Given the description of an element on the screen output the (x, y) to click on. 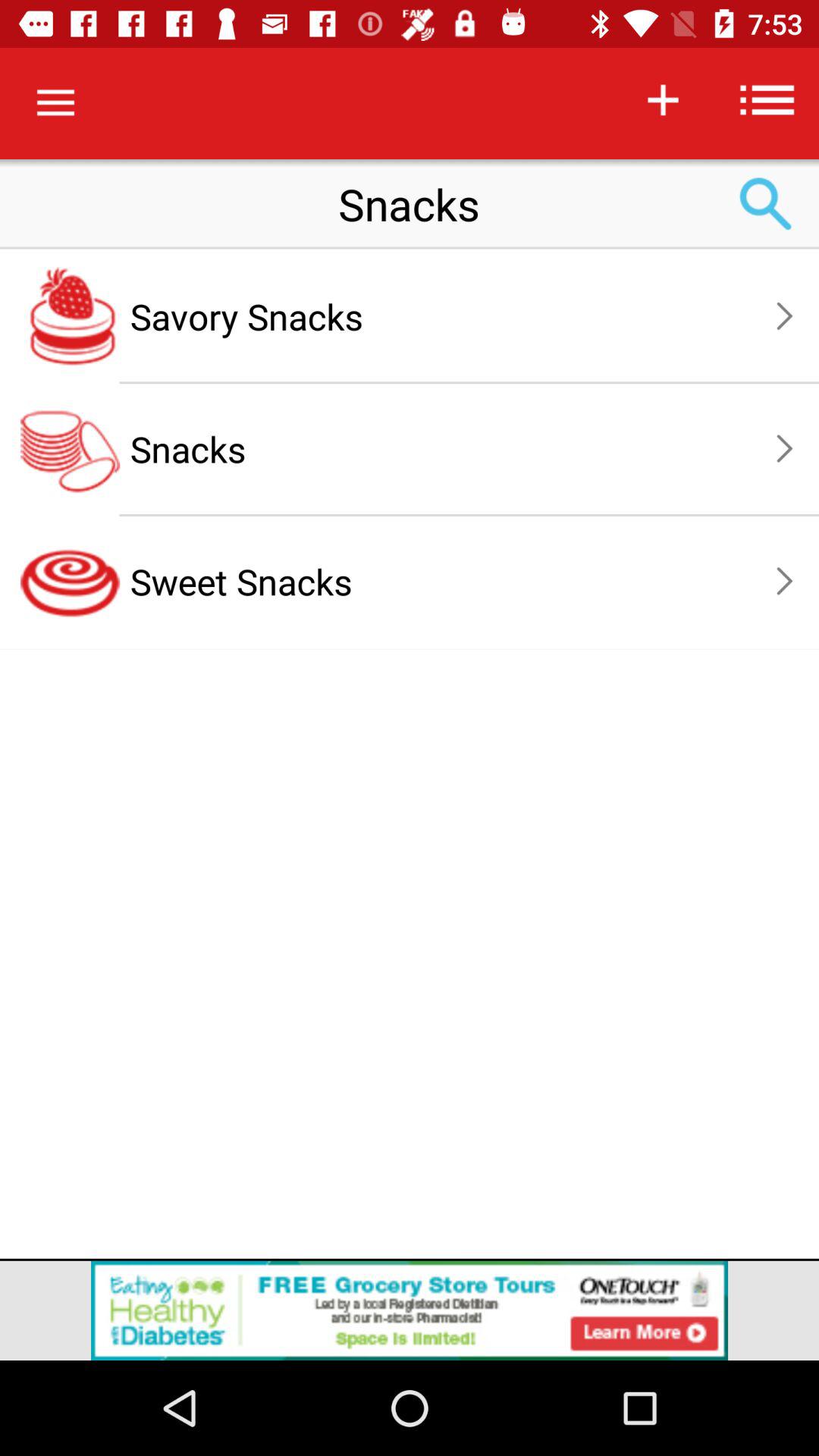
advertisement (409, 1310)
